Given the description of an element on the screen output the (x, y) to click on. 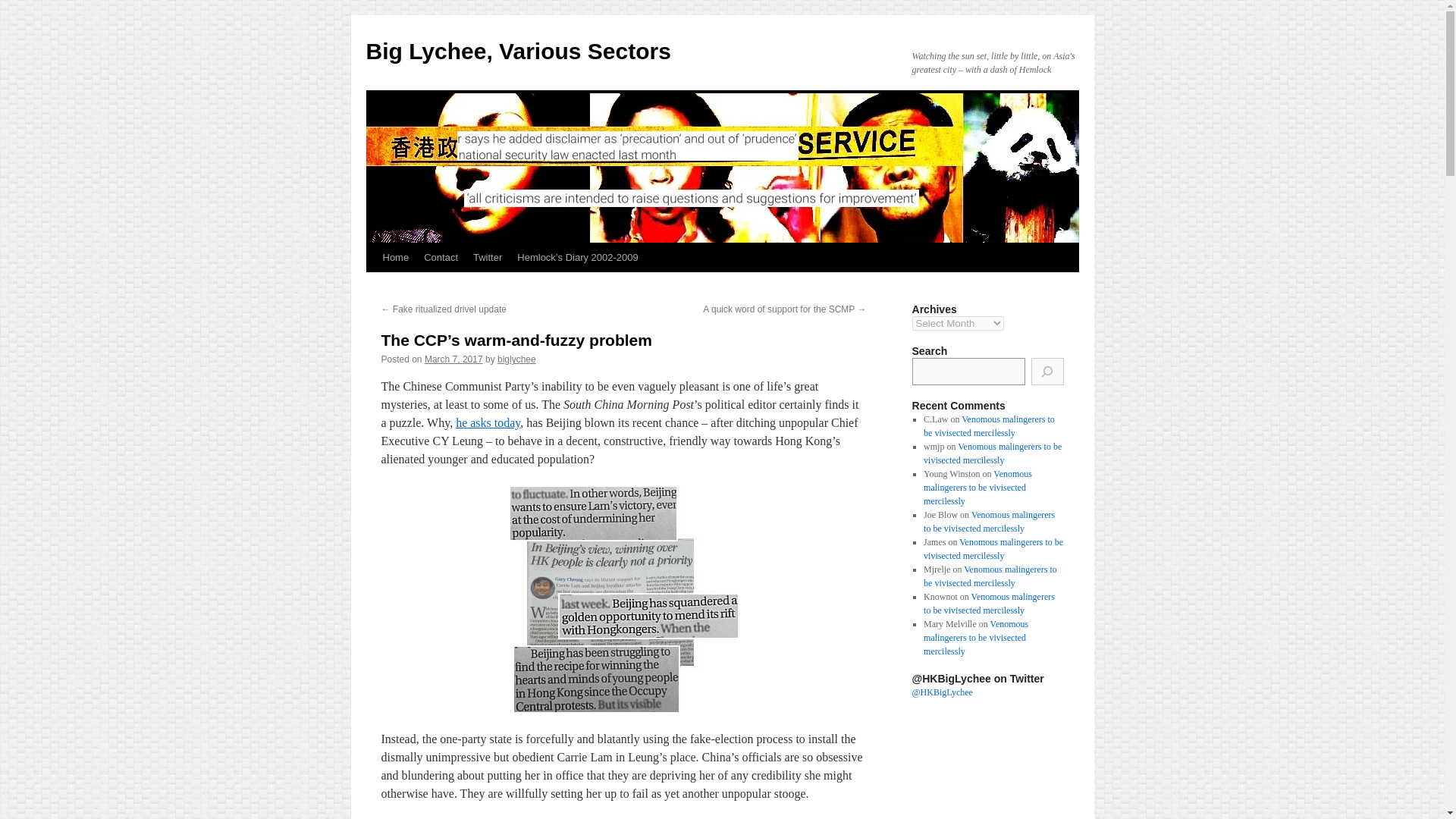
he asks today (487, 422)
Venomous malingerers to be vivisected mercilessly (992, 453)
biglychee (516, 358)
Twitter (487, 257)
View all posts by biglychee (516, 358)
Venomous malingerers to be vivisected mercilessly (988, 426)
Big Lychee, Various Sectors (517, 50)
March 7, 2017 (454, 358)
Contact (440, 257)
Home (395, 257)
